Given the description of an element on the screen output the (x, y) to click on. 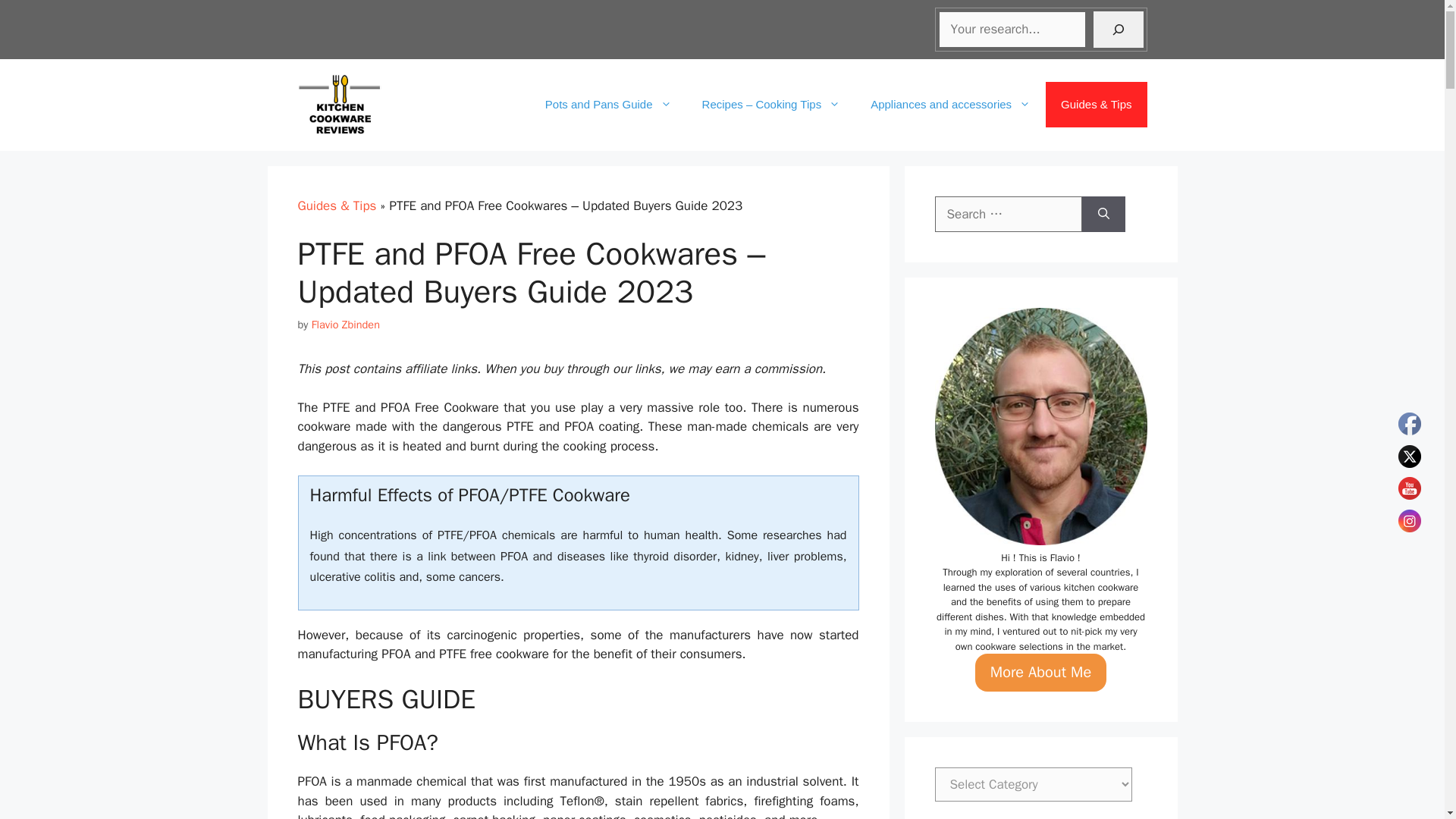
Appliances and accessories (950, 104)
Instagram (1409, 520)
Flavio Zbinden (345, 324)
Pots and Pans Guide (608, 104)
Facebook (1409, 423)
View all posts by Flavio Zbinden (345, 324)
Search for: (1007, 214)
YouTube (1409, 487)
Twitter (1409, 455)
